Given the description of an element on the screen output the (x, y) to click on. 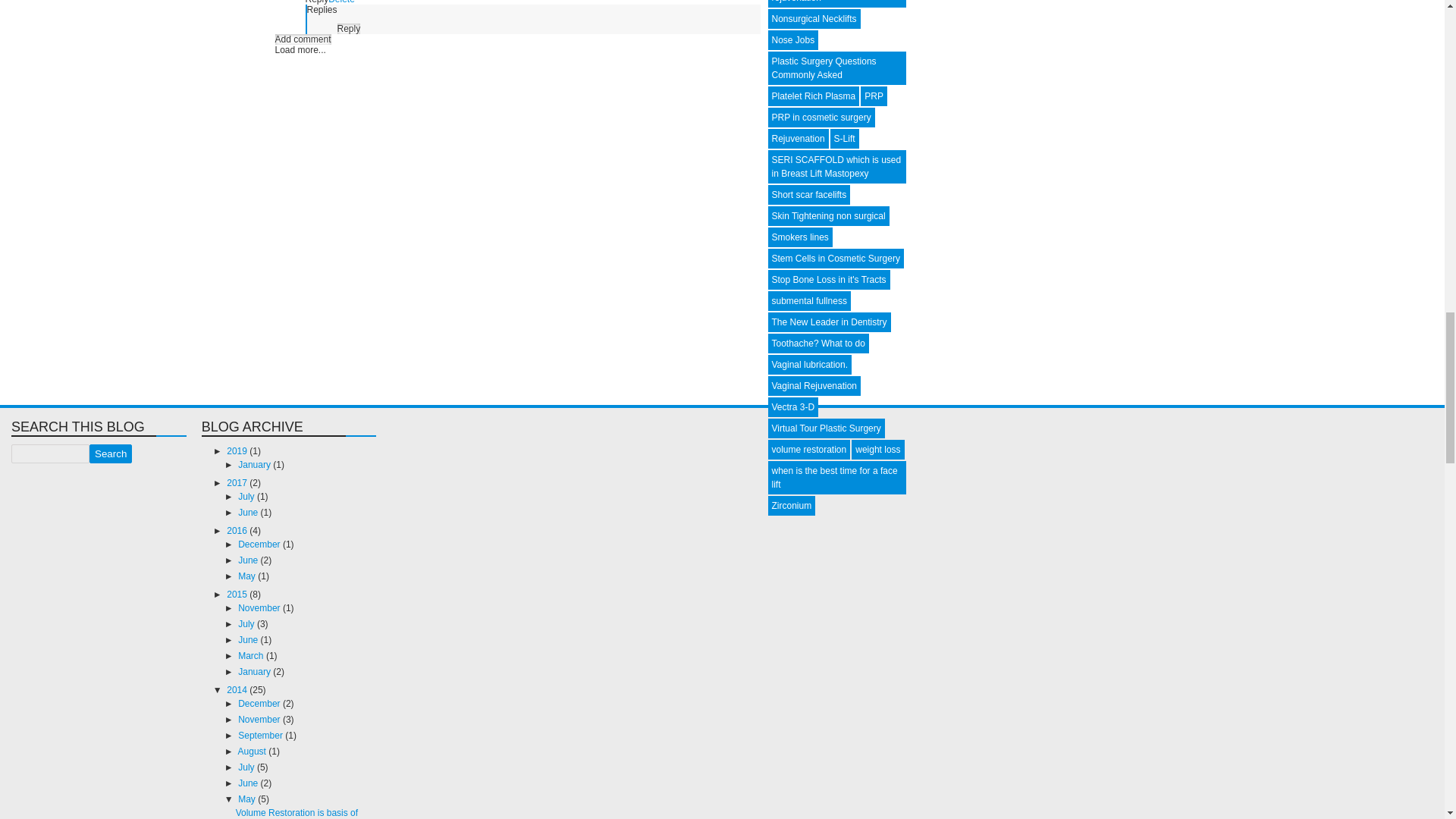
Advertisement (105, 557)
Search (110, 453)
search (49, 453)
search (110, 453)
Search (110, 453)
